Given the description of an element on the screen output the (x, y) to click on. 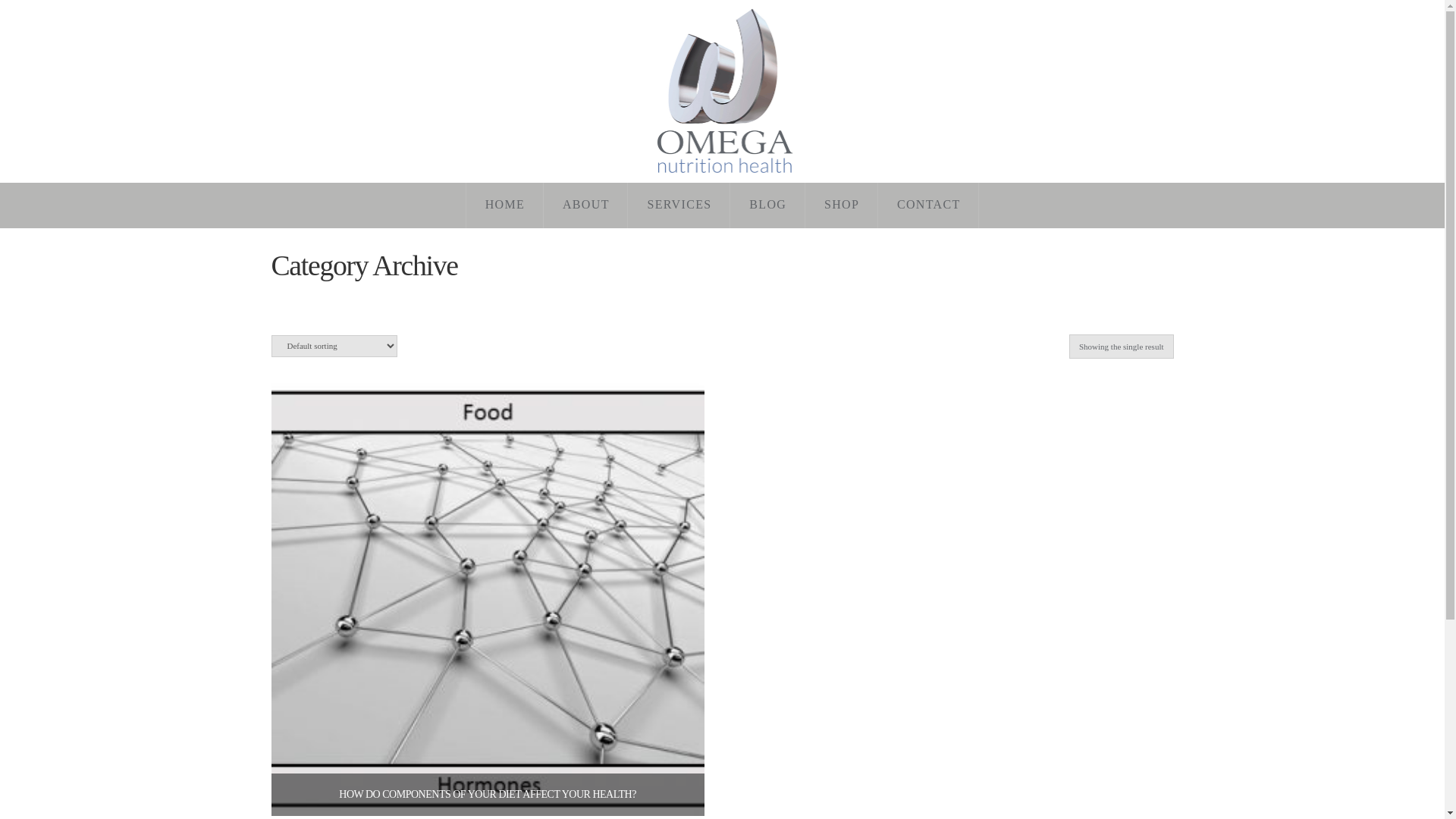
SERVICES Element type: text (678, 204)
ABOUT Element type: text (585, 204)
SHOP Element type: text (841, 204)
BLOG Element type: text (767, 204)
HOME Element type: text (504, 204)
CONTACT Element type: text (928, 204)
HOW DO COMPONENTS OF YOUR DIET AFFECT YOUR HEALTH? Element type: text (487, 794)
